Given the description of an element on the screen output the (x, y) to click on. 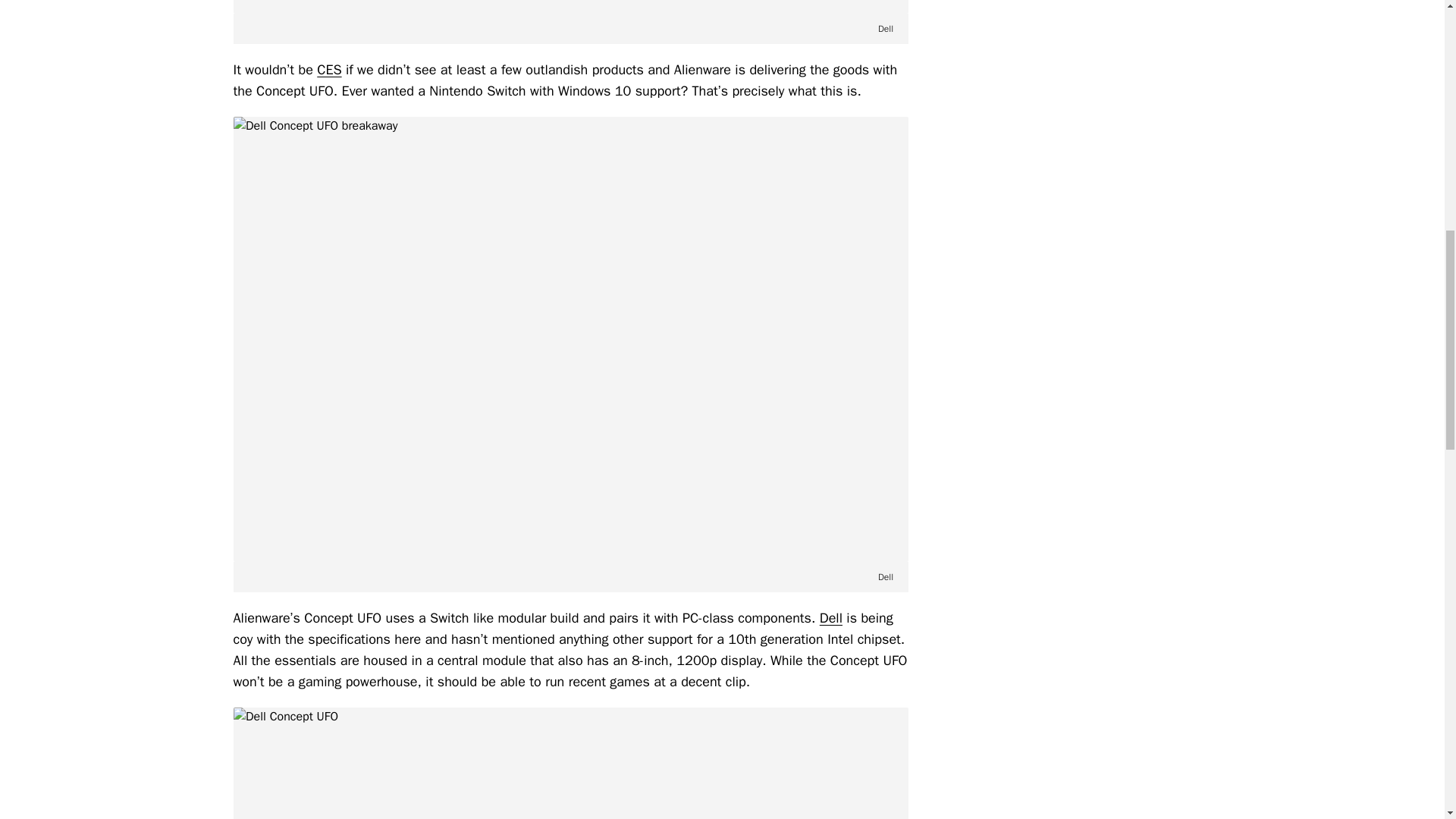
Dell Concept UFO (570, 763)
Dell (831, 617)
Dell Concept UFO in hand (570, 6)
CES (328, 69)
